Given the description of an element on the screen output the (x, y) to click on. 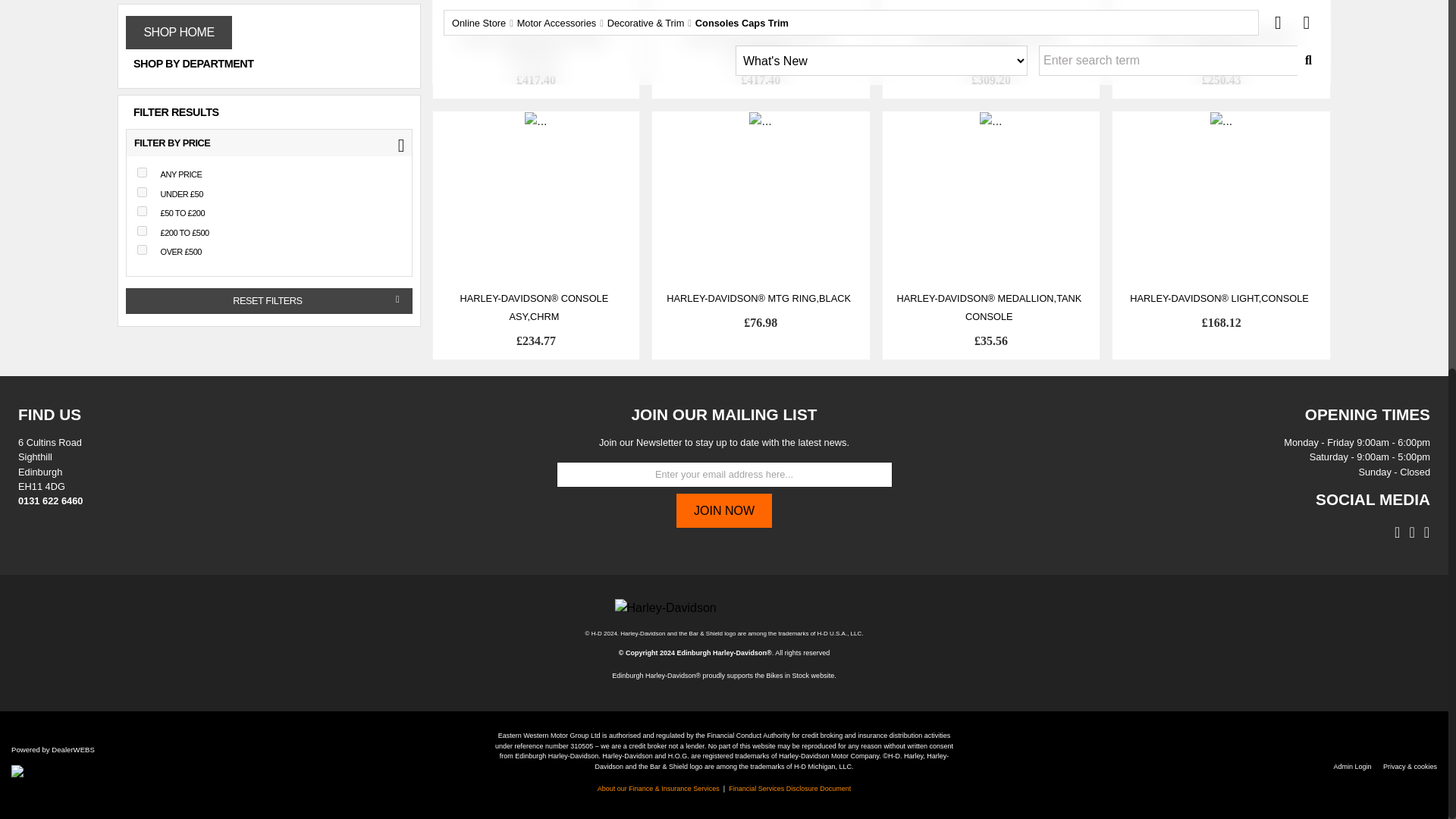
Join now (725, 510)
